Given the description of an element on the screen output the (x, y) to click on. 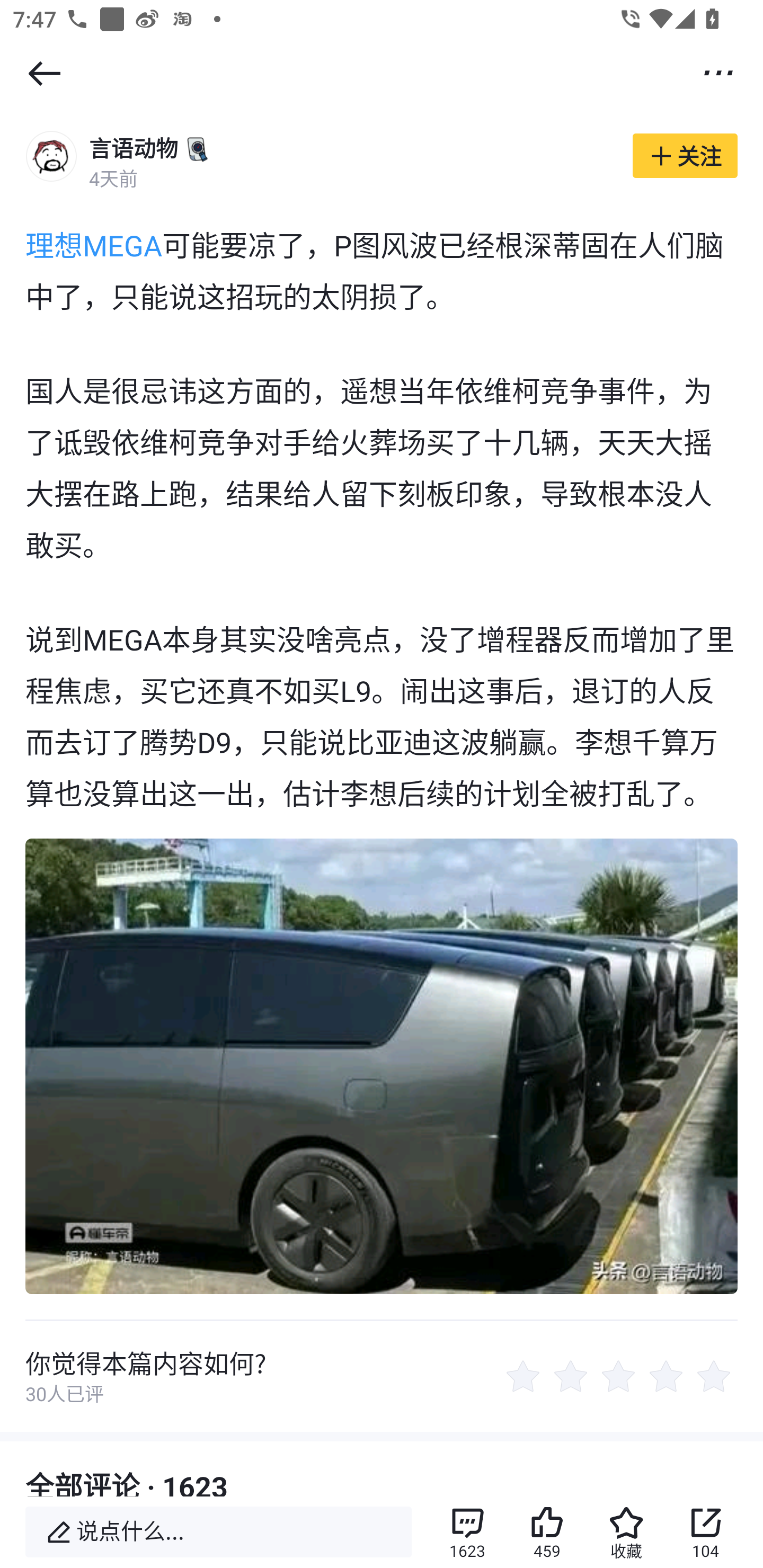
 (718, 71)
 (44, 73)
言语动物 (133, 148)
 关注 (684, 155)
 1623 (467, 1531)
459 (546, 1531)
收藏 (625, 1531)
 104 (705, 1531)
 说点什么... (218, 1531)
